Given the description of an element on the screen output the (x, y) to click on. 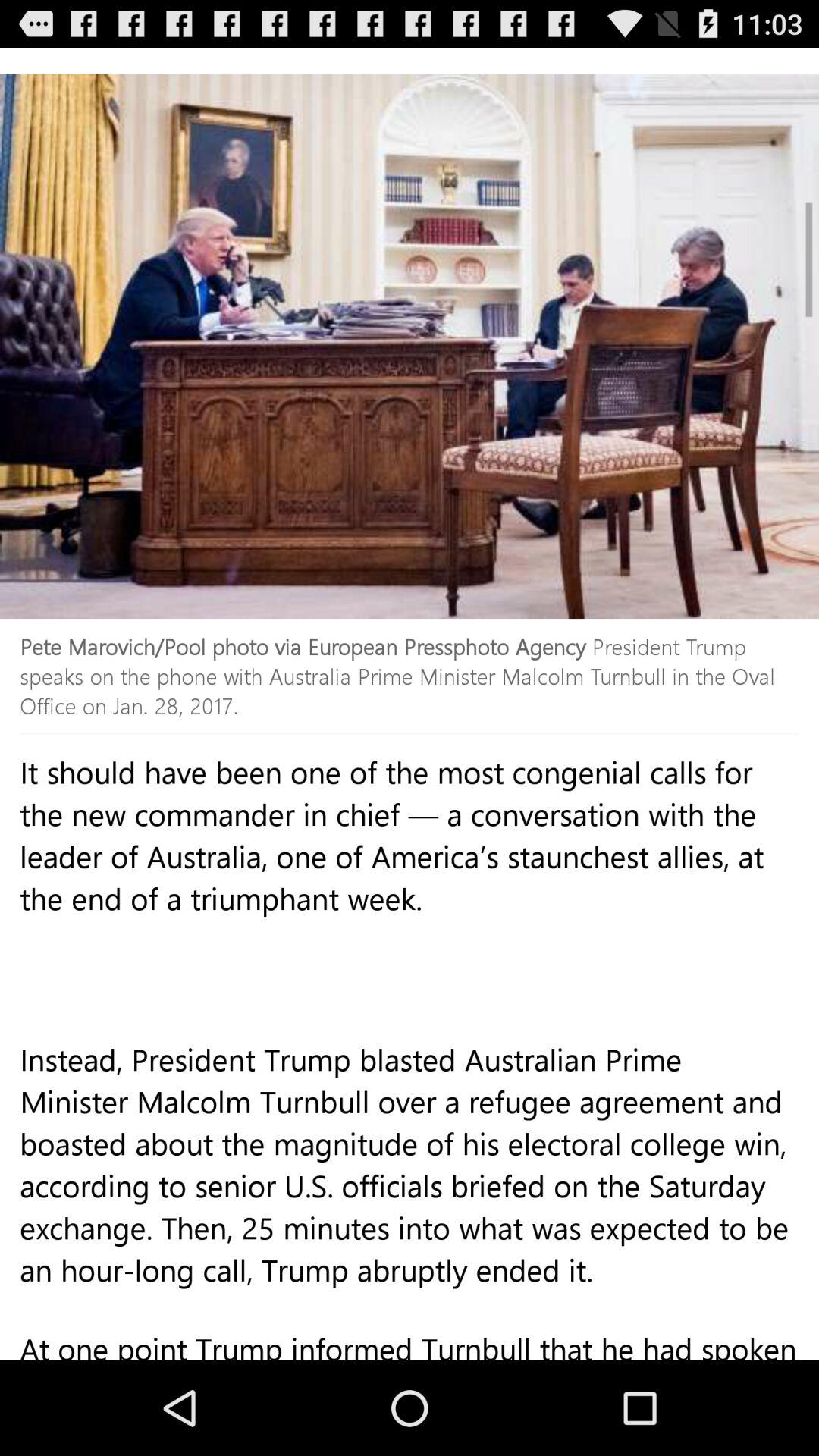
open the item above the instead president trump icon (409, 908)
